Given the description of an element on the screen output the (x, y) to click on. 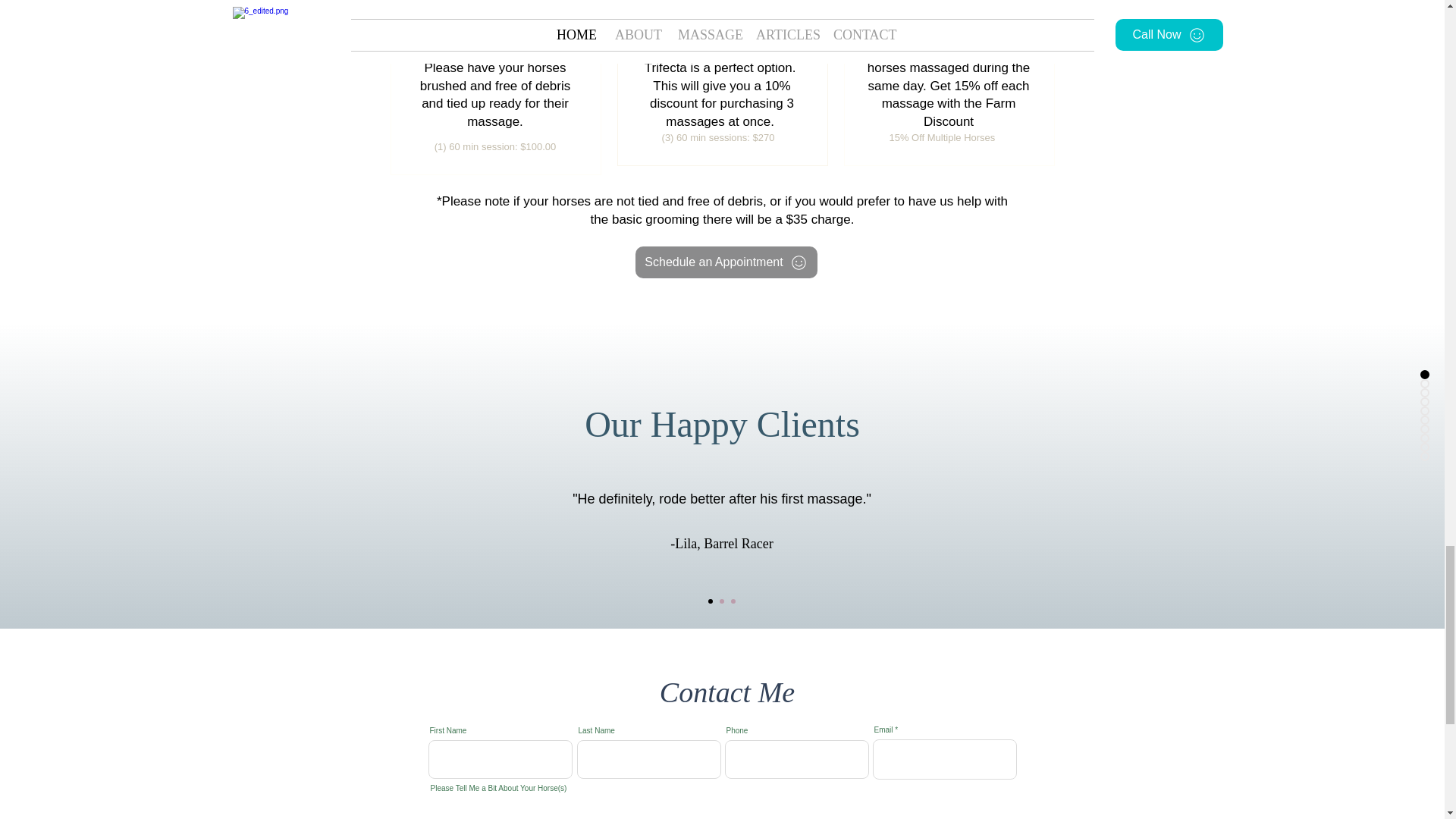
Schedule an Appointment (725, 262)
